Given the description of an element on the screen output the (x, y) to click on. 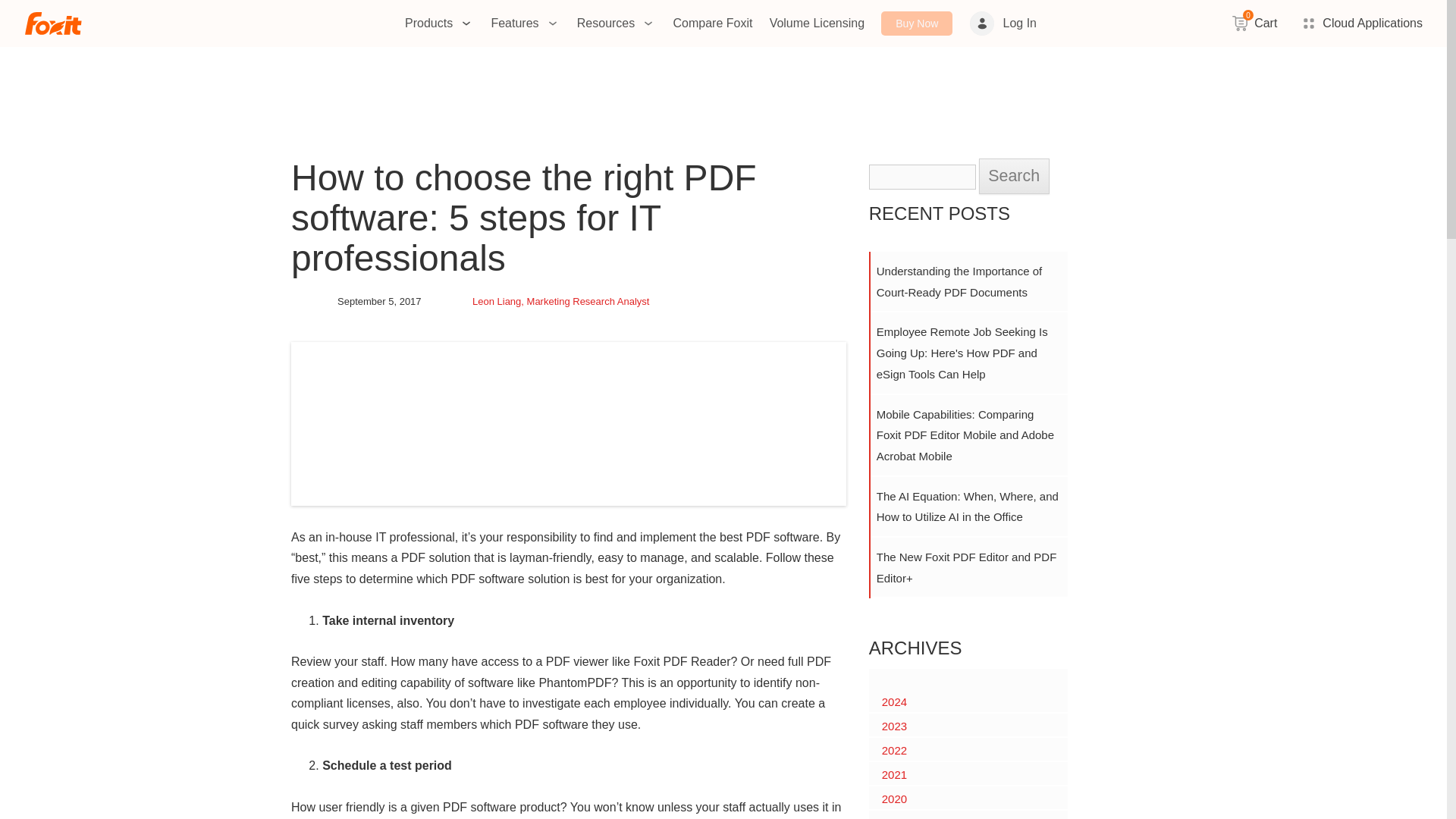
Search (1013, 175)
View all posts by Leon Liang, Marketing Research Analyst (560, 301)
